Given the description of an element on the screen output the (x, y) to click on. 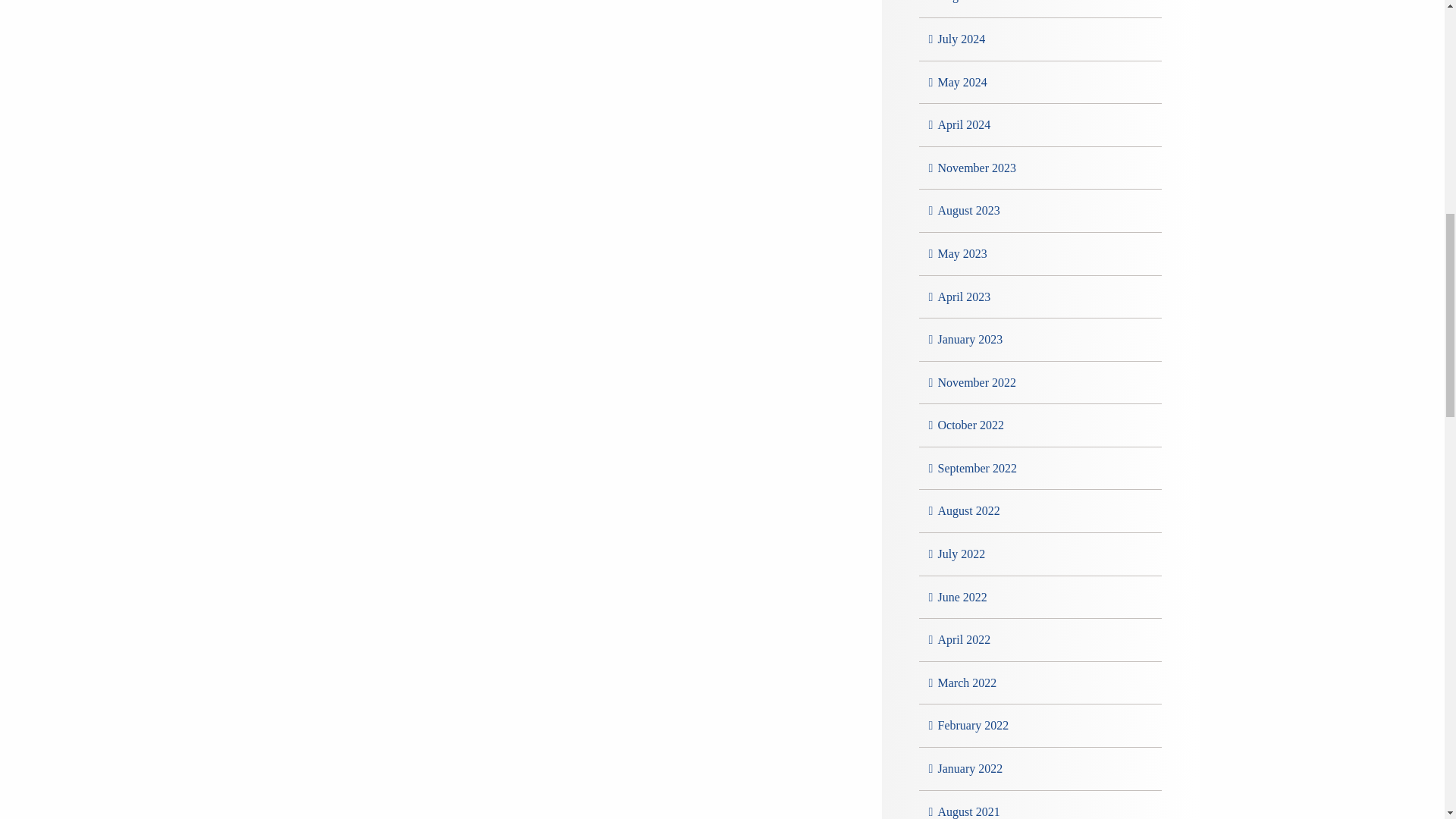
August 2023 (967, 210)
August 2024 (967, 1)
May 2023 (962, 253)
April 2024 (963, 124)
July 2024 (961, 38)
November 2023 (976, 167)
May 2024 (962, 82)
